Given the description of an element on the screen output the (x, y) to click on. 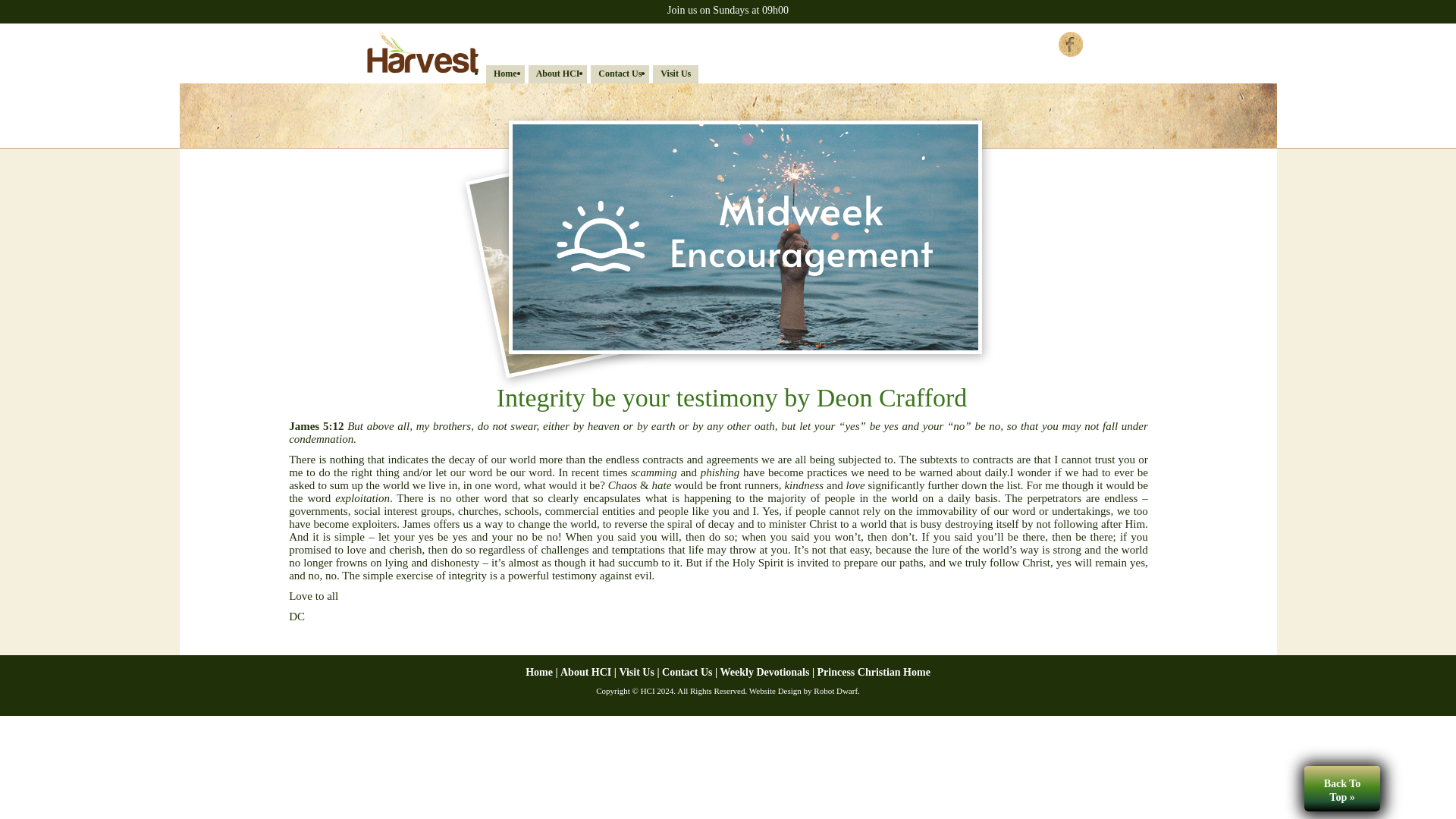
Weekly Devotionals (768, 672)
Home (542, 672)
Princess Christian Home (873, 672)
About HCI (589, 672)
About HCI (557, 73)
Home (504, 73)
Visit Us (675, 73)
Contact Us (620, 73)
Join us on Sundays at 09h00 (727, 9)
Contact Us (691, 672)
Visit Us (640, 672)
